Given the description of an element on the screen output the (x, y) to click on. 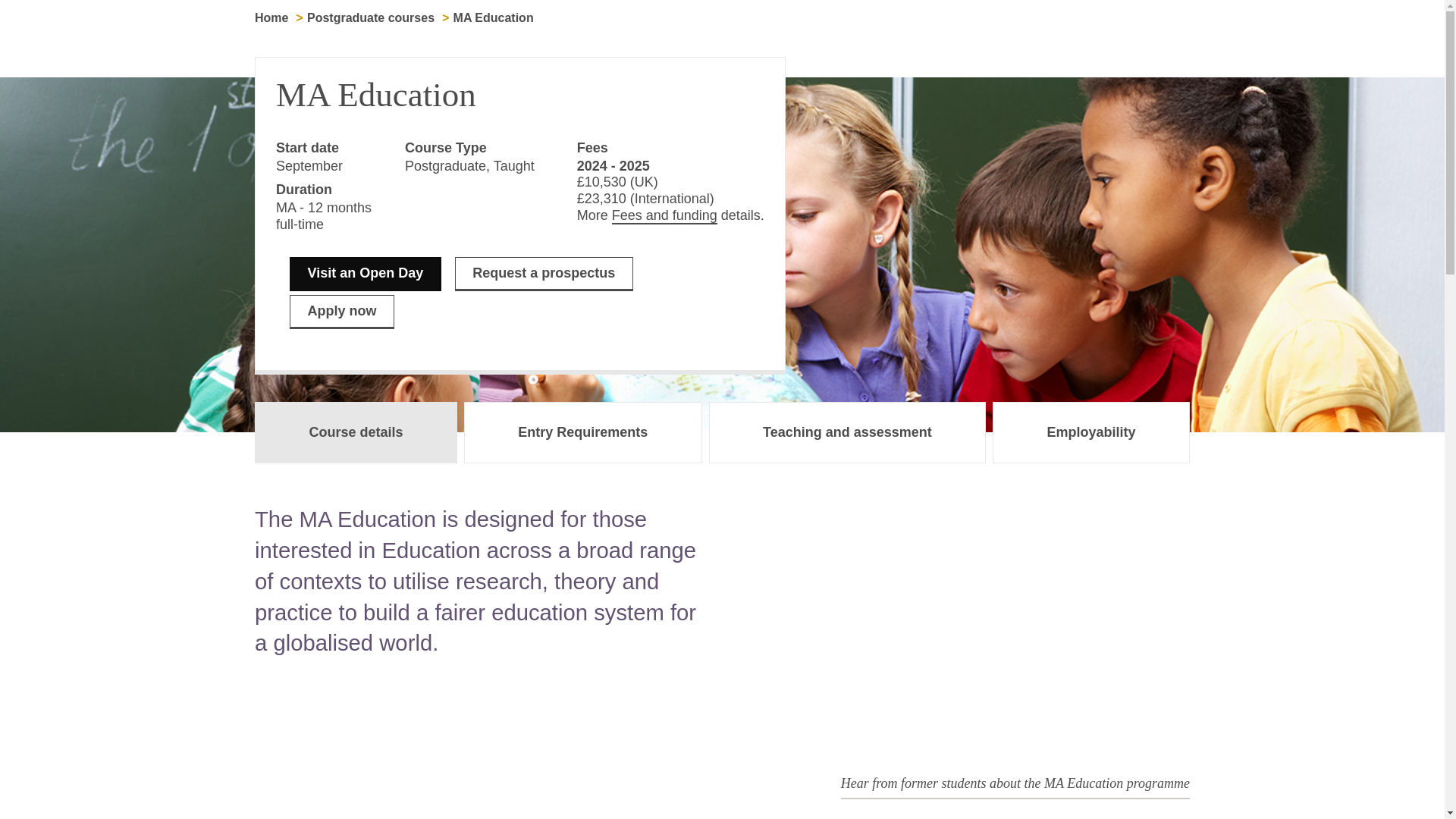
MA Education (493, 18)
Employability (1090, 432)
Fees and funding (664, 216)
Postgraduate courses (370, 18)
MA Education (955, 635)
Visit an Open Day (365, 274)
Entry Requirements (582, 432)
Teaching and assessment (848, 432)
Request a prospectus (543, 274)
Home (271, 18)
